Given the description of an element on the screen output the (x, y) to click on. 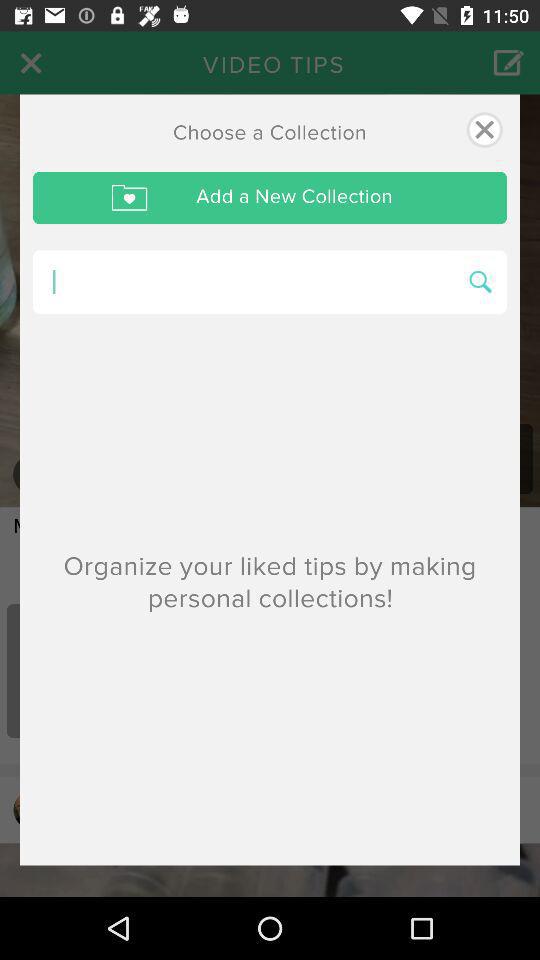
searching box (243, 281)
